Given the description of an element on the screen output the (x, y) to click on. 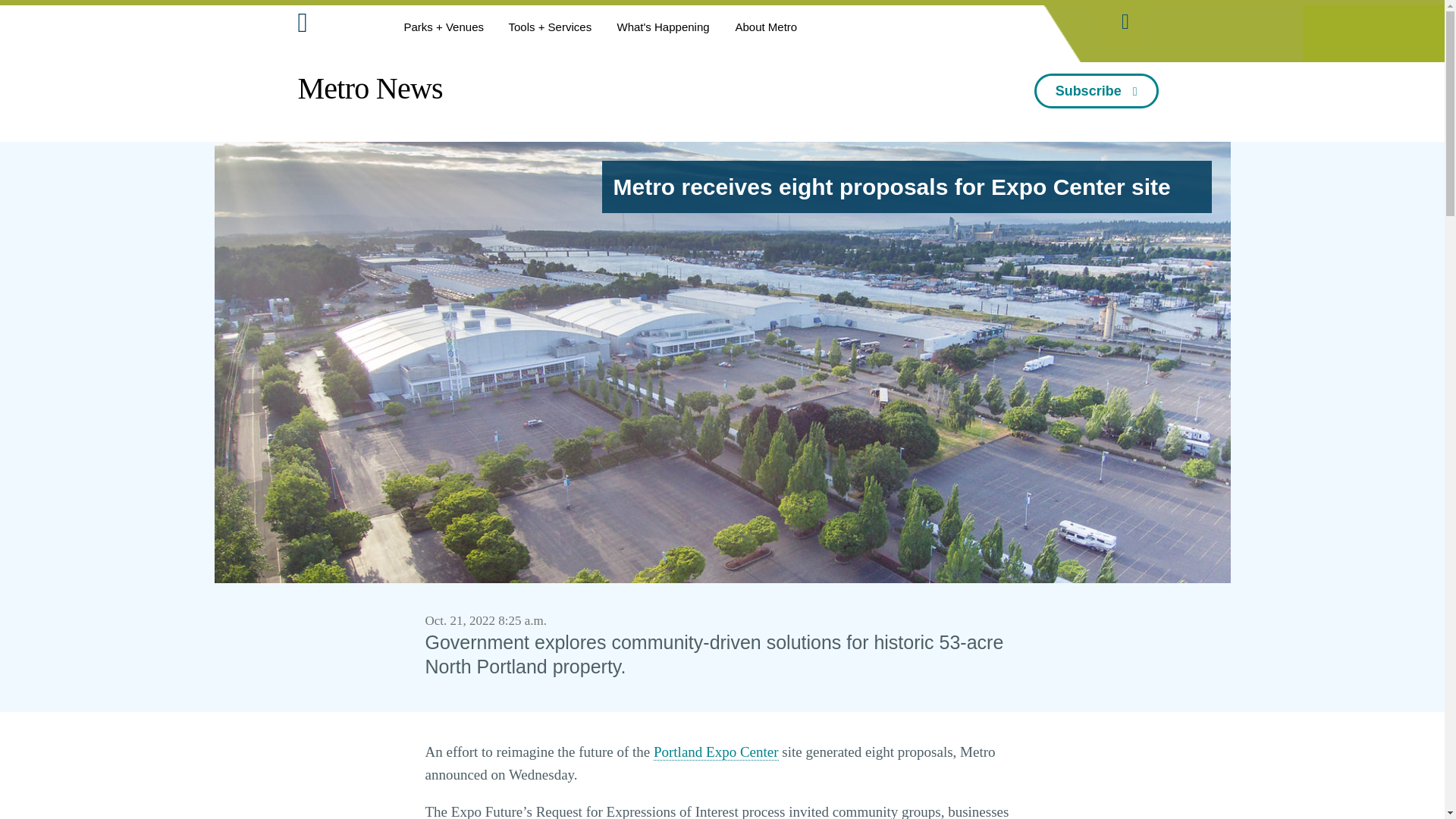
Metro (335, 25)
